Given the description of an element on the screen output the (x, y) to click on. 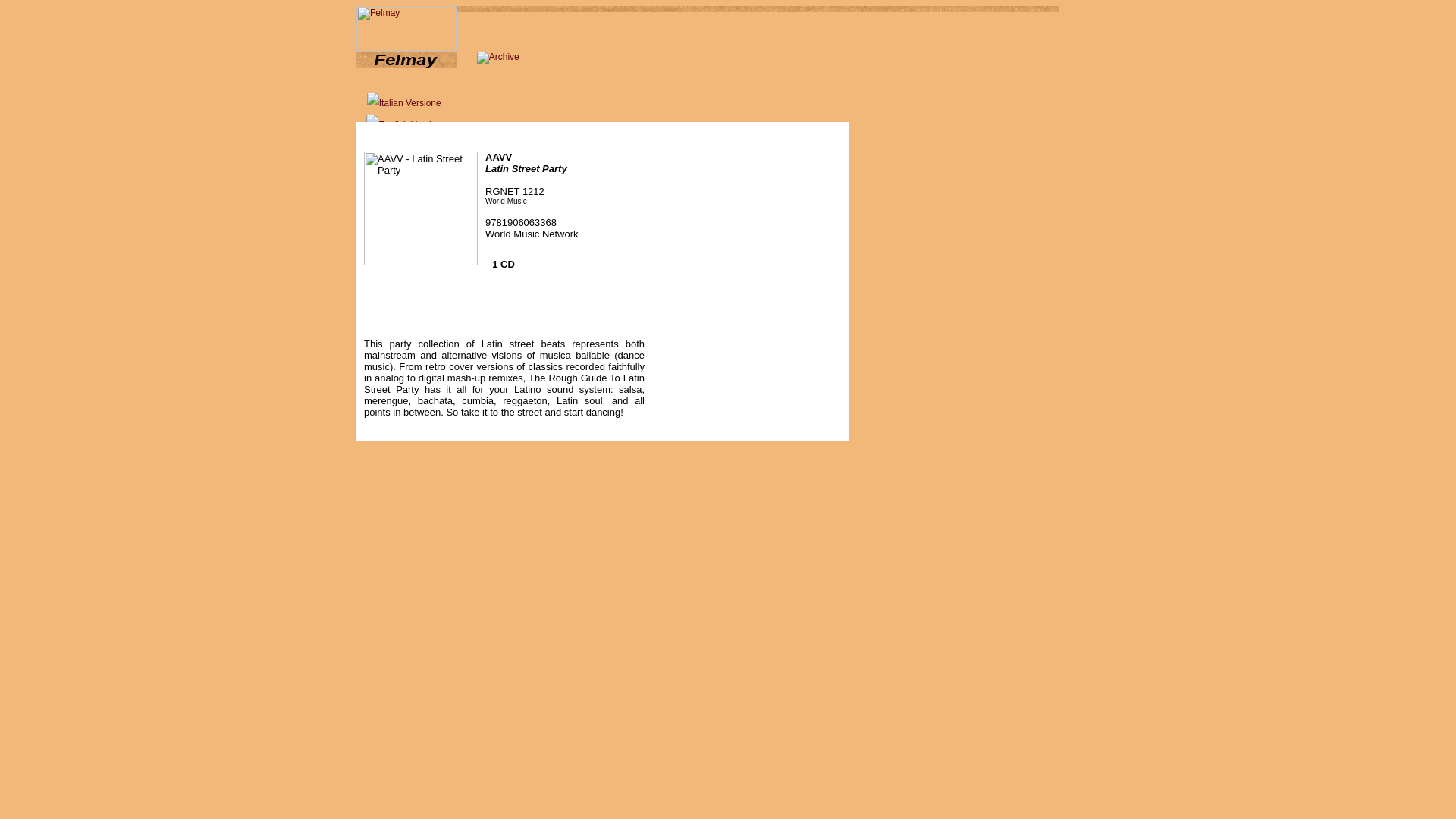
English Versione (405, 125)
AAVV (498, 156)
Italian Versione (403, 103)
